Given the description of an element on the screen output the (x, y) to click on. 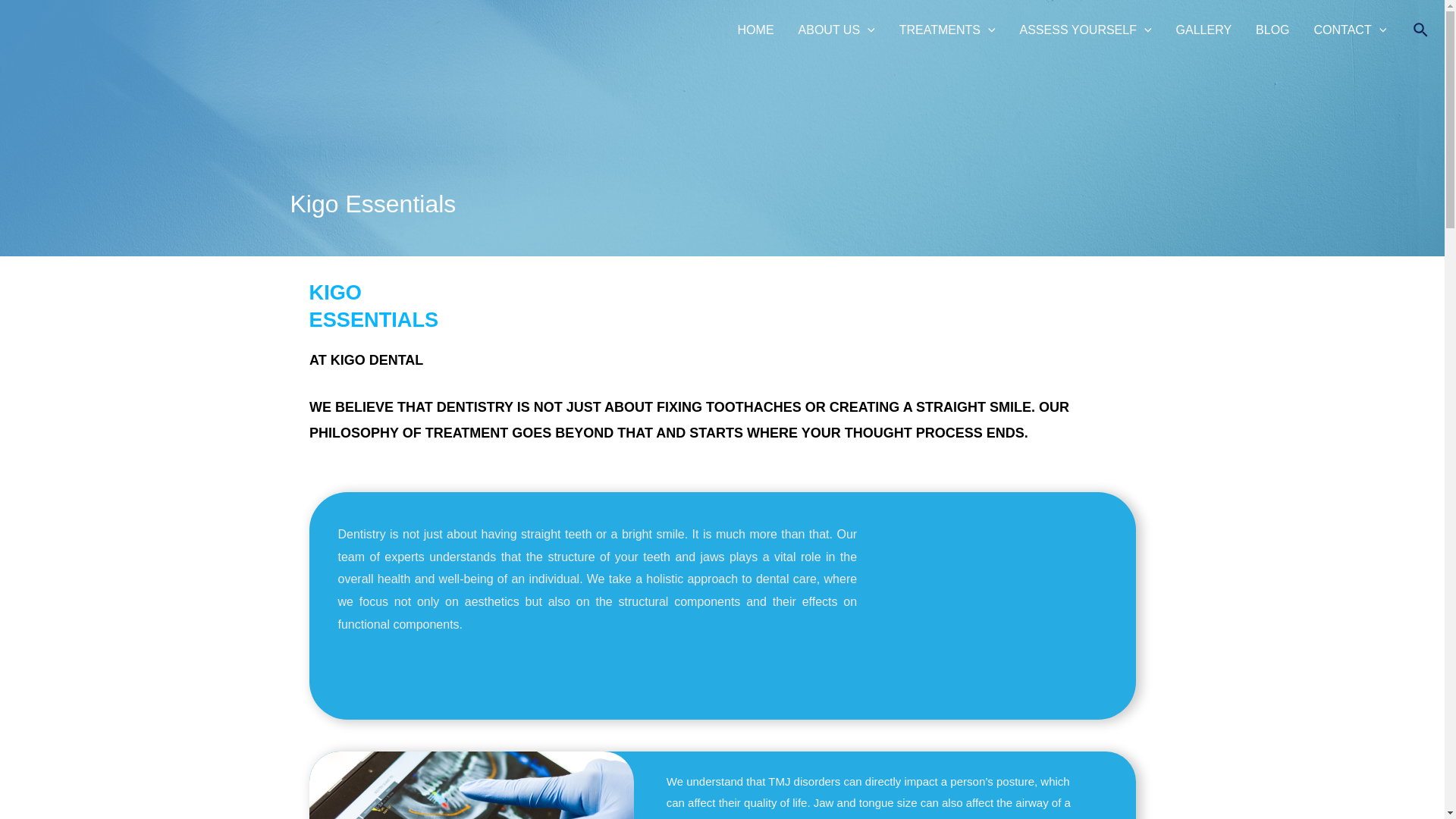
ABOUT US (836, 30)
TREATMENTS (946, 30)
HOME (755, 30)
